Given the description of an element on the screen output the (x, y) to click on. 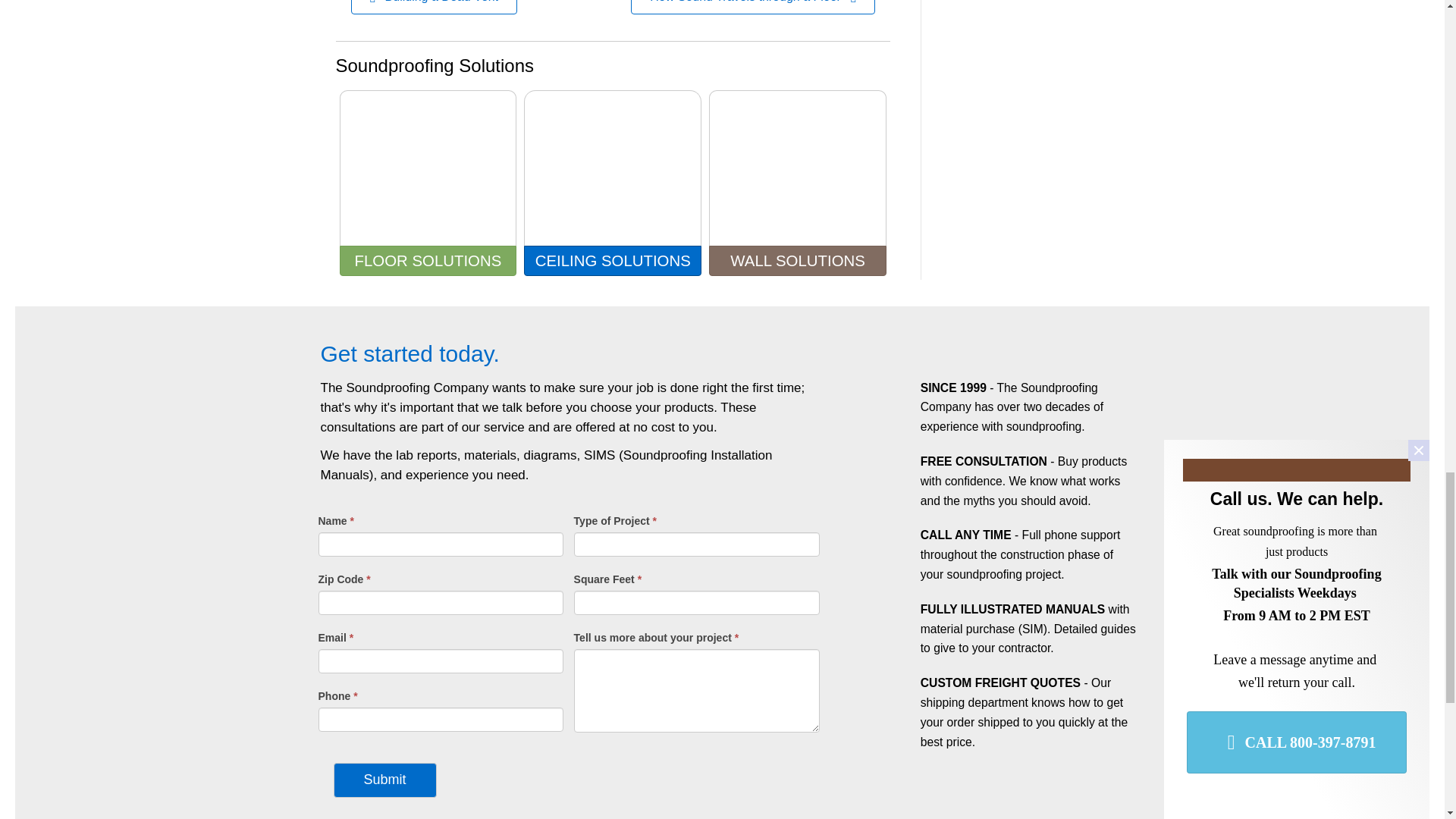
Soundproofing Ceiling Solutions (612, 167)
Trusted Soundproofing Experience Since 1999 (885, 405)
Soundproofing Solutions (434, 65)
Free Consultation (885, 479)
Custom Freight (885, 700)
Soundproofing Wall Solutions (797, 167)
Soundproofing Solutions (434, 65)
How Sound Travels through a Floor (752, 7)
fully-illustrated-instructions-270x270 (885, 626)
Soundproofing Floor Solutions (427, 167)
call-any-time-270x270 (885, 552)
FLOOR SOLUTIONS (427, 260)
Building a Dead Vent (433, 7)
